Given the description of an element on the screen output the (x, y) to click on. 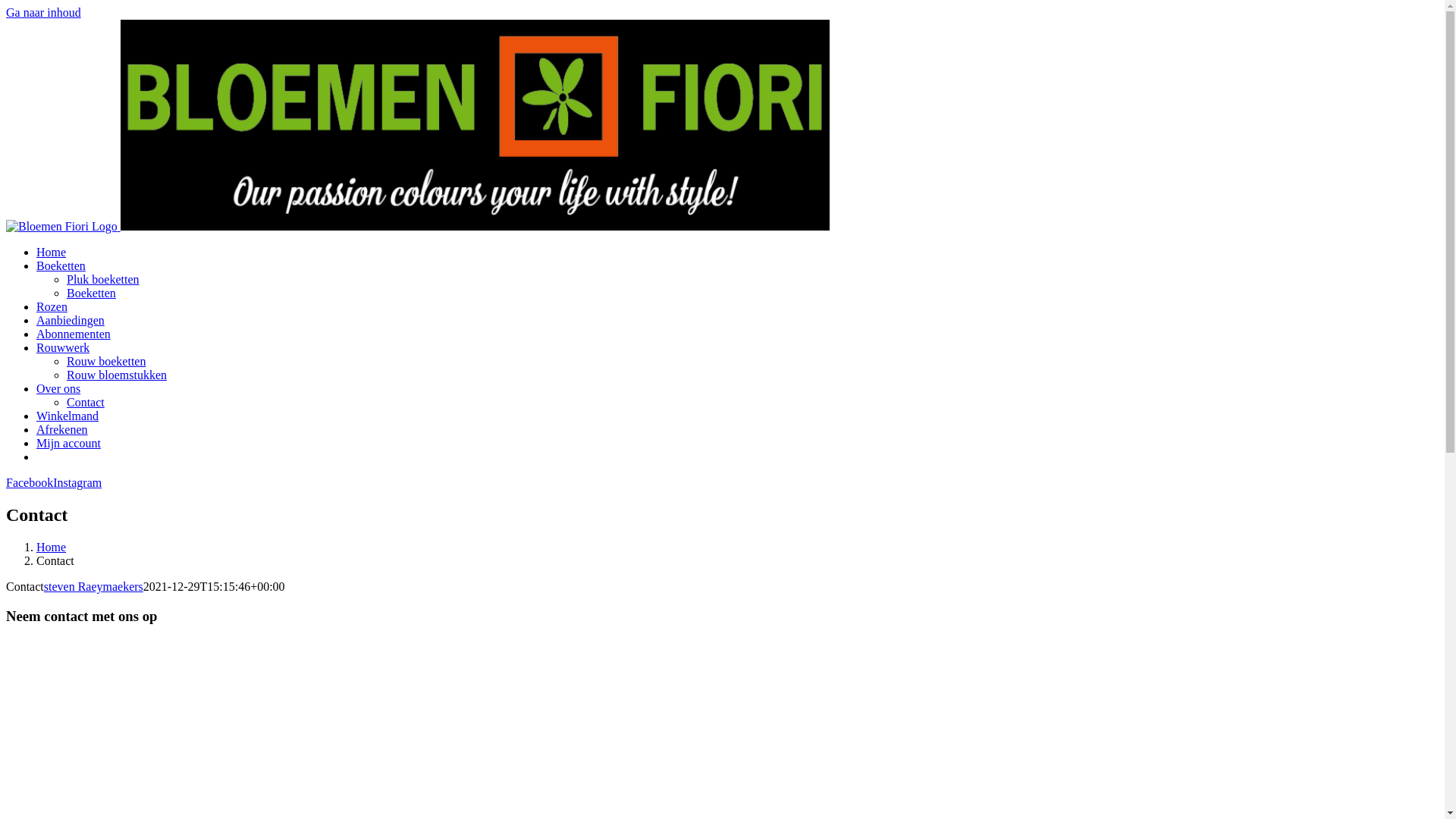
Winkelmand Element type: text (67, 415)
Rouwwerk Element type: text (62, 347)
Ga naar inhoud Element type: text (43, 12)
Rozen Element type: text (51, 306)
Afrekenen Element type: text (61, 429)
Home Element type: text (50, 251)
Mijn account Element type: text (68, 442)
Boeketten Element type: text (60, 265)
Pluk boeketten Element type: text (102, 279)
Contact Element type: text (85, 401)
Rouw boeketten Element type: text (105, 360)
Home Element type: text (50, 546)
Facebook Element type: text (29, 482)
Instagram Element type: text (77, 482)
Over ons Element type: text (58, 388)
Rouw bloemstukken Element type: text (116, 374)
Boeketten Element type: text (91, 292)
Aanbiedingen Element type: text (70, 319)
steven Raeymaekers Element type: text (93, 586)
Abonnementen Element type: text (73, 333)
